Given the description of an element on the screen output the (x, y) to click on. 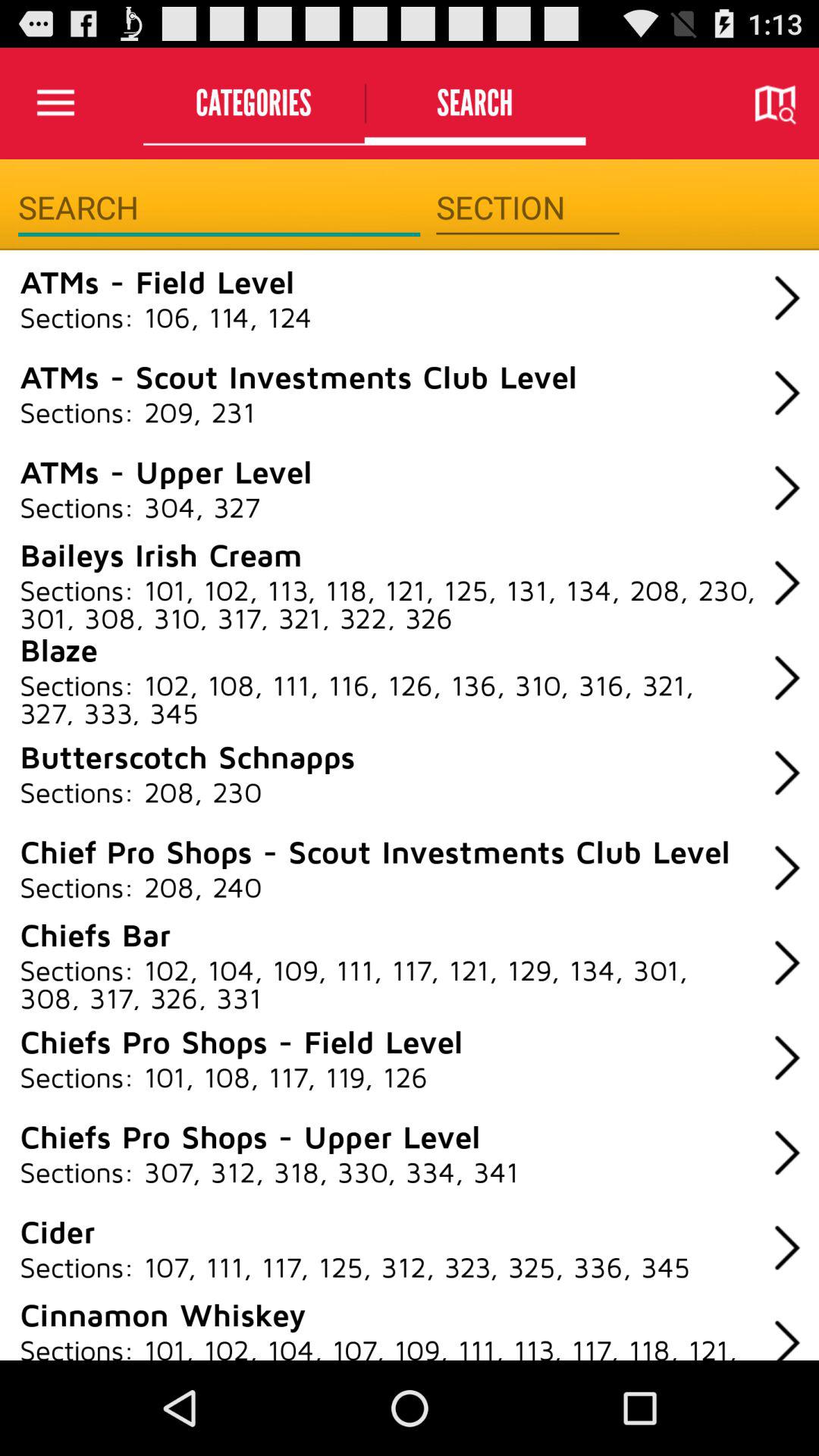
turn off icon below the sections: 304, 327 item (160, 554)
